Given the description of an element on the screen output the (x, y) to click on. 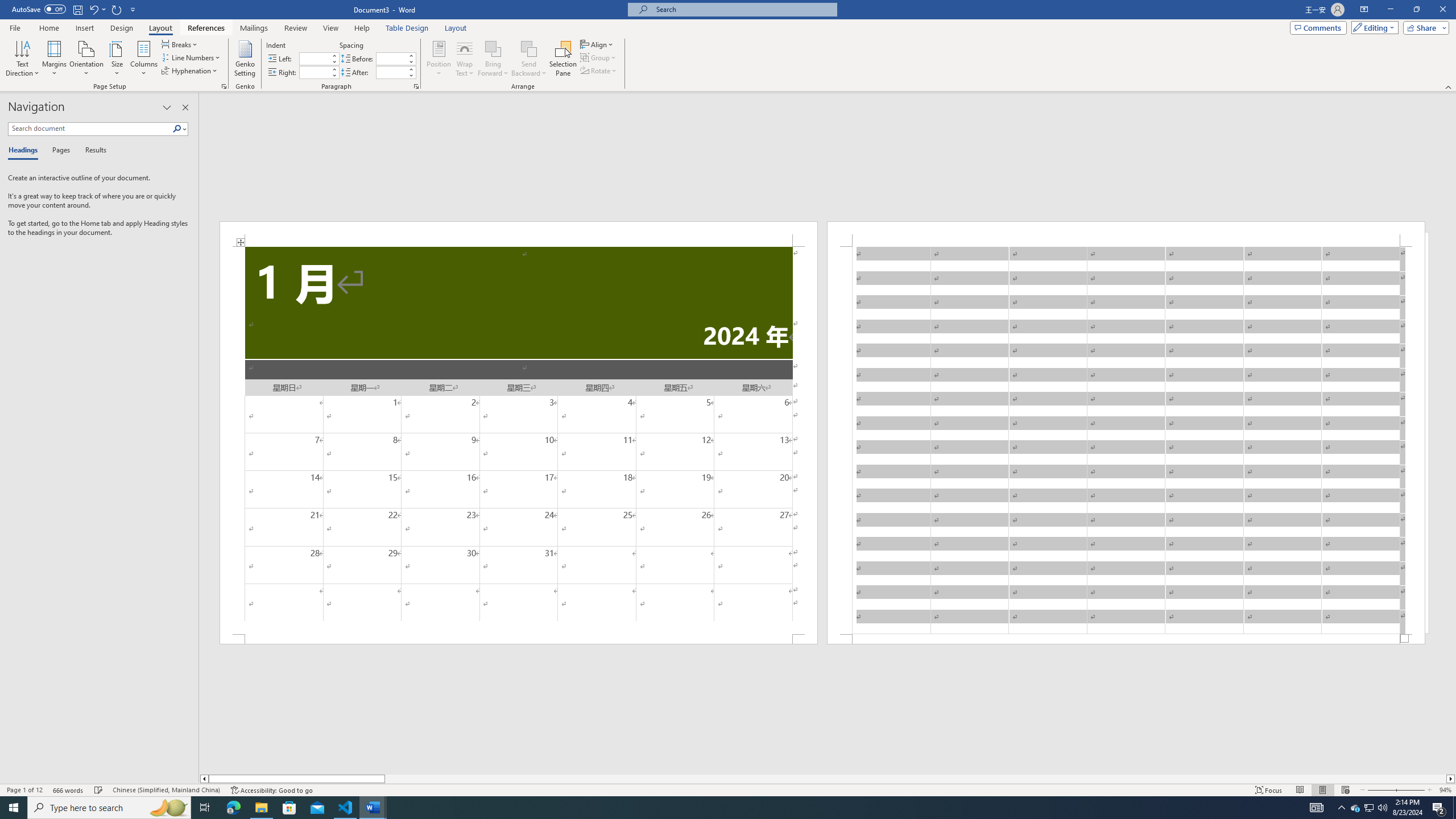
Mode (1372, 27)
Bring Forward (492, 58)
Task Pane Options (167, 107)
Send Backward (528, 48)
Customize Quick Access Toolbar (133, 9)
Language Chinese (Simplified, Mainland China) (165, 790)
Layout (455, 28)
Page Number Page 1 of 12 (24, 790)
Pages (59, 150)
Zoom In (1410, 790)
Search (179, 128)
Page Setup... (223, 85)
Restore Down (1416, 9)
